Given the description of an element on the screen output the (x, y) to click on. 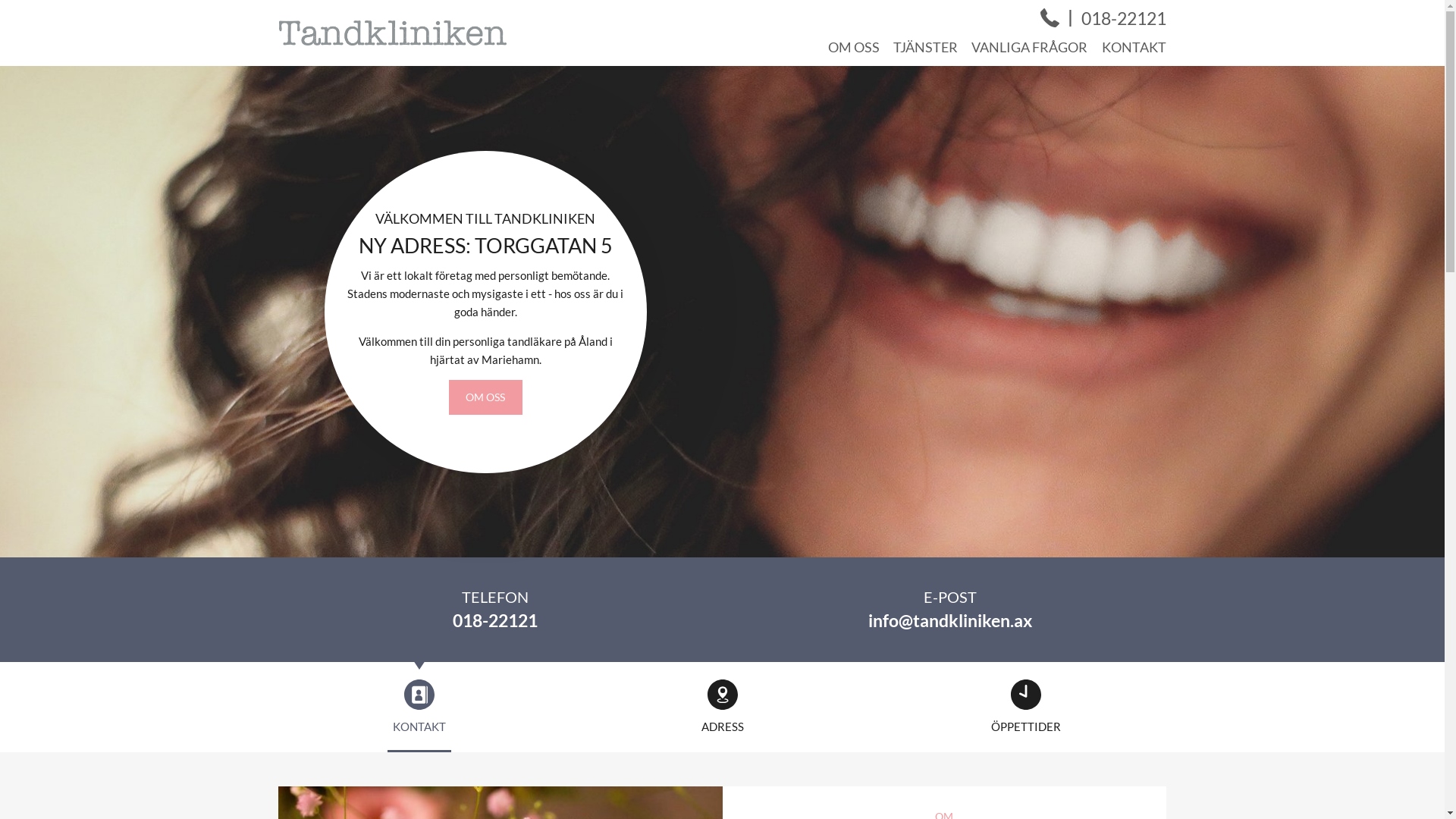
OM OSS Element type: text (485, 396)
info@tandkliniken.ax Element type: text (949, 620)
KONTAKT Element type: text (1133, 47)
ADRESS Element type: text (721, 705)
KONTAKT Element type: text (418, 705)
OM OSS Element type: text (853, 47)
018-22121 Element type: text (1123, 18)
018-22121 Element type: text (493, 620)
